Given the description of an element on the screen output the (x, y) to click on. 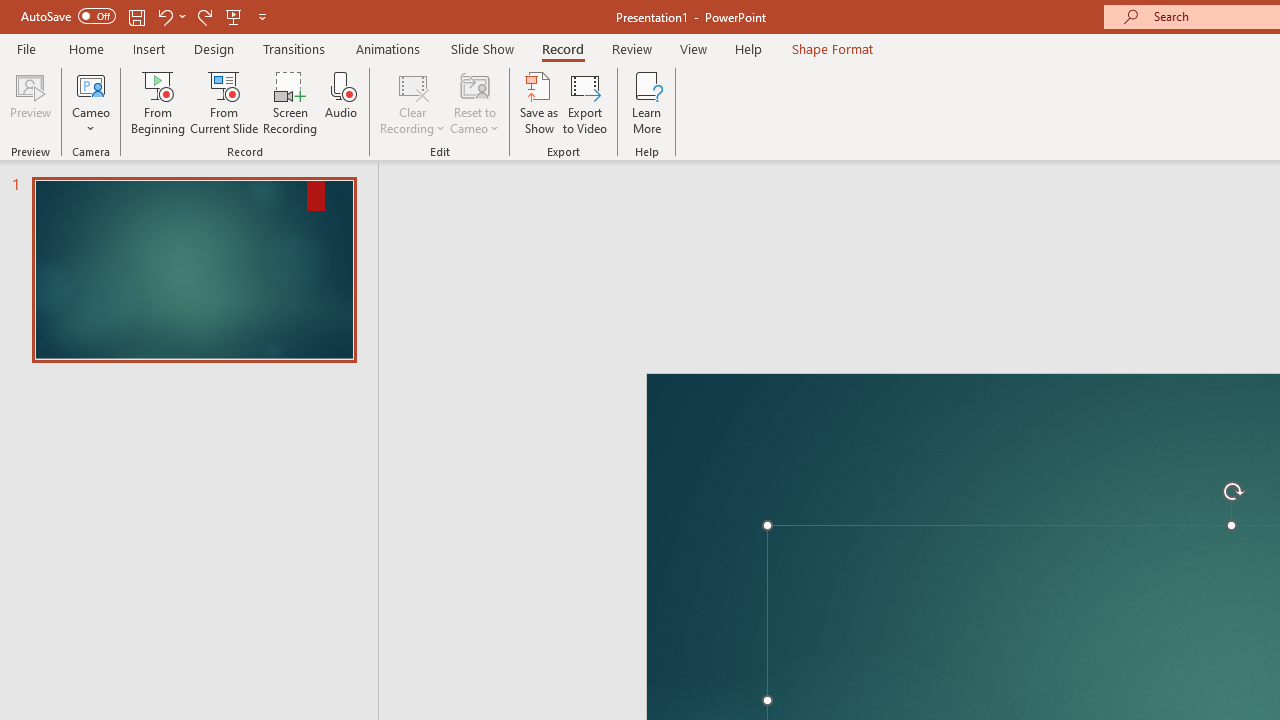
Audio (341, 102)
Animations (388, 48)
From Beginning (234, 15)
Save (136, 15)
